Given the description of an element on the screen output the (x, y) to click on. 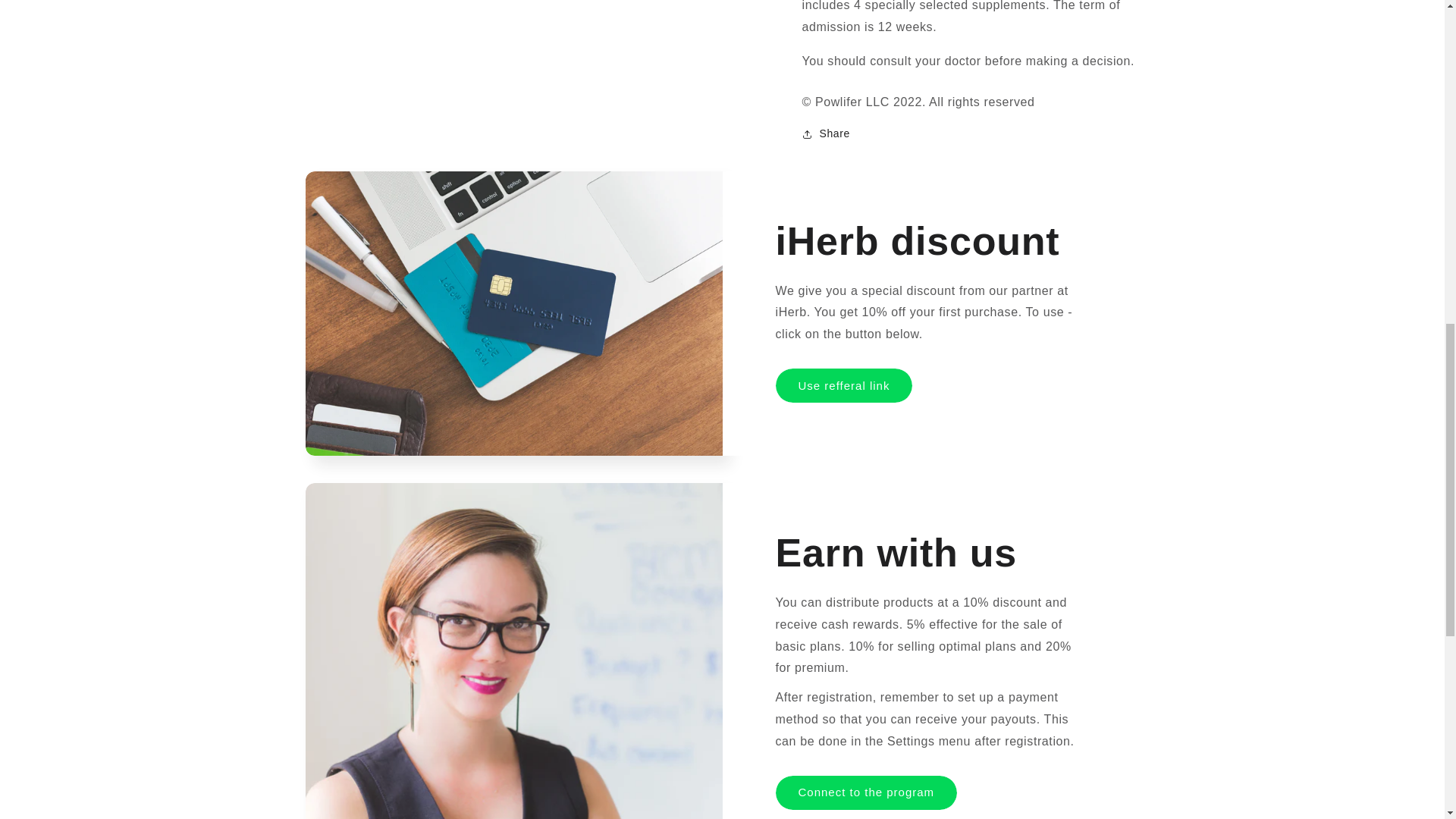
Use refferal link (843, 385)
Connect to the program (865, 792)
